Given the description of an element on the screen output the (x, y) to click on. 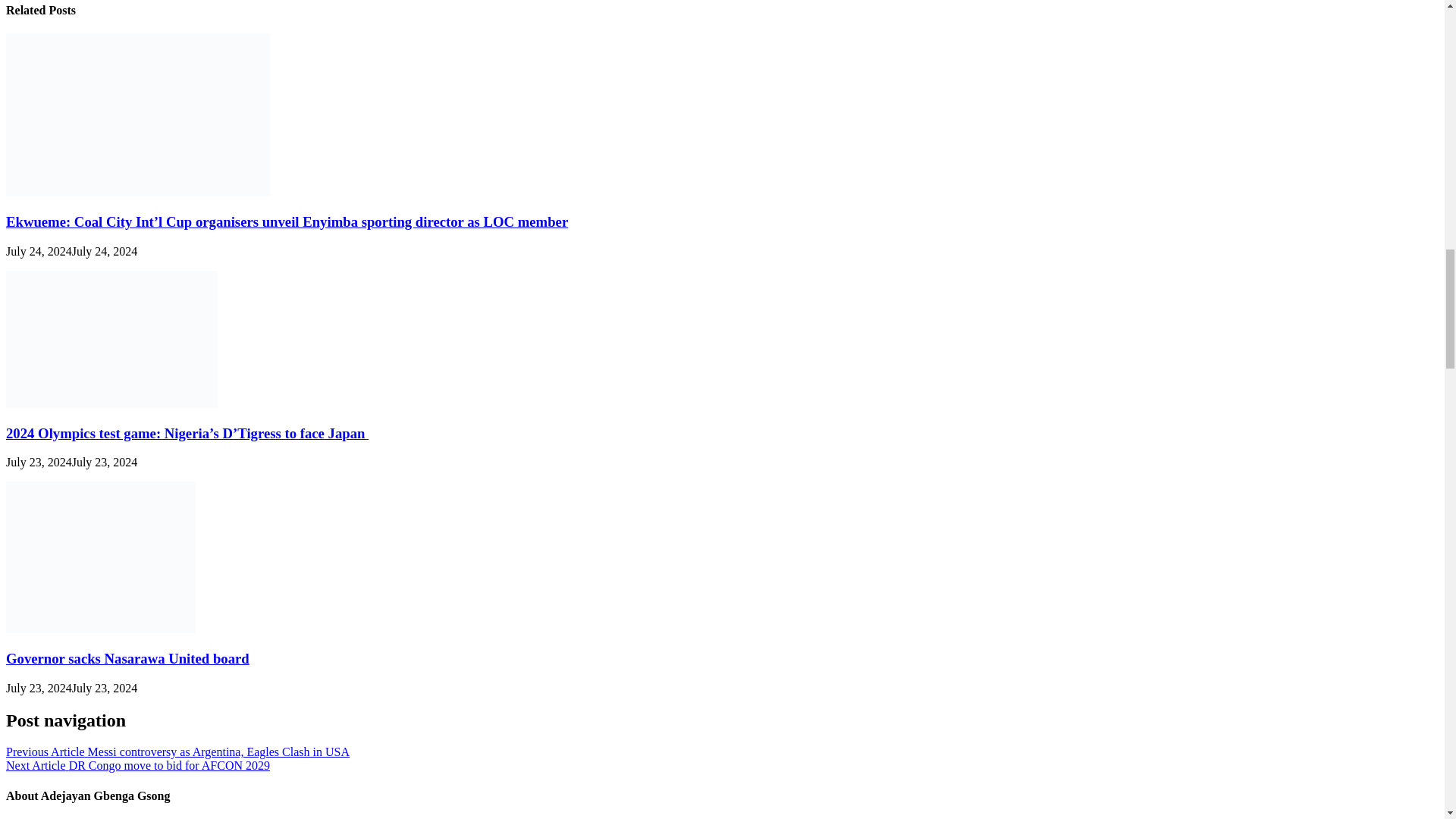
Governor sacks Nasarawa United board (100, 628)
Governor sacks Nasarawa United board (126, 658)
